Given the description of an element on the screen output the (x, y) to click on. 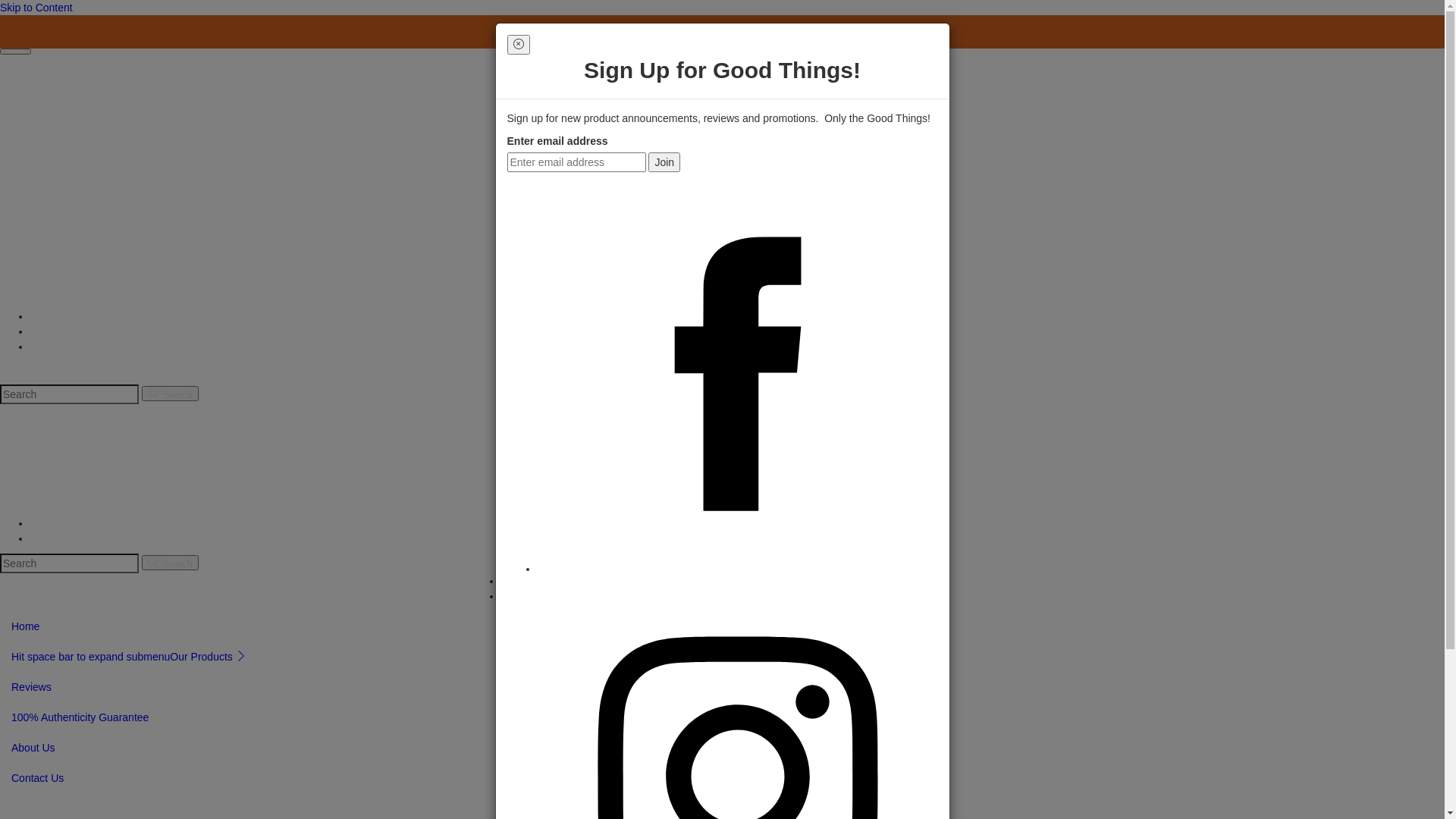
You have 0 items in your cart Element type: text (108, 537)
My account Element type: text (535, 579)
You have 0 items in your cart Element type: text (579, 594)
Search Element type: text (169, 562)
Search Element type: text (52, 315)
Home Element type: text (25, 626)
Reviews Element type: text (31, 686)
Our Products Element type: text (92, 592)
My account Element type: text (64, 330)
Search Element type: text (169, 393)
Contact Us Element type: text (37, 777)
Reviews Element type: text (167, 592)
About Us Element type: text (392, 592)
You have 0 items in your cart Element type: text (108, 345)
Search Element type: text (22, 70)
Contact Us Element type: text (463, 592)
Home Element type: text (25, 592)
100% Authenticity Guarantee Element type: text (279, 592)
My account Element type: text (64, 522)
Hit space bar to expand submenuOur Products Element type: text (128, 656)
Skip to Content Element type: text (36, 7)
About Us Element type: text (33, 747)
Menu Element type: text (20, 315)
Facebook Element type: hover (736, 568)
100% Authenticity Guarantee Element type: text (79, 717)
Join Element type: text (664, 162)
